Given the description of an element on the screen output the (x, y) to click on. 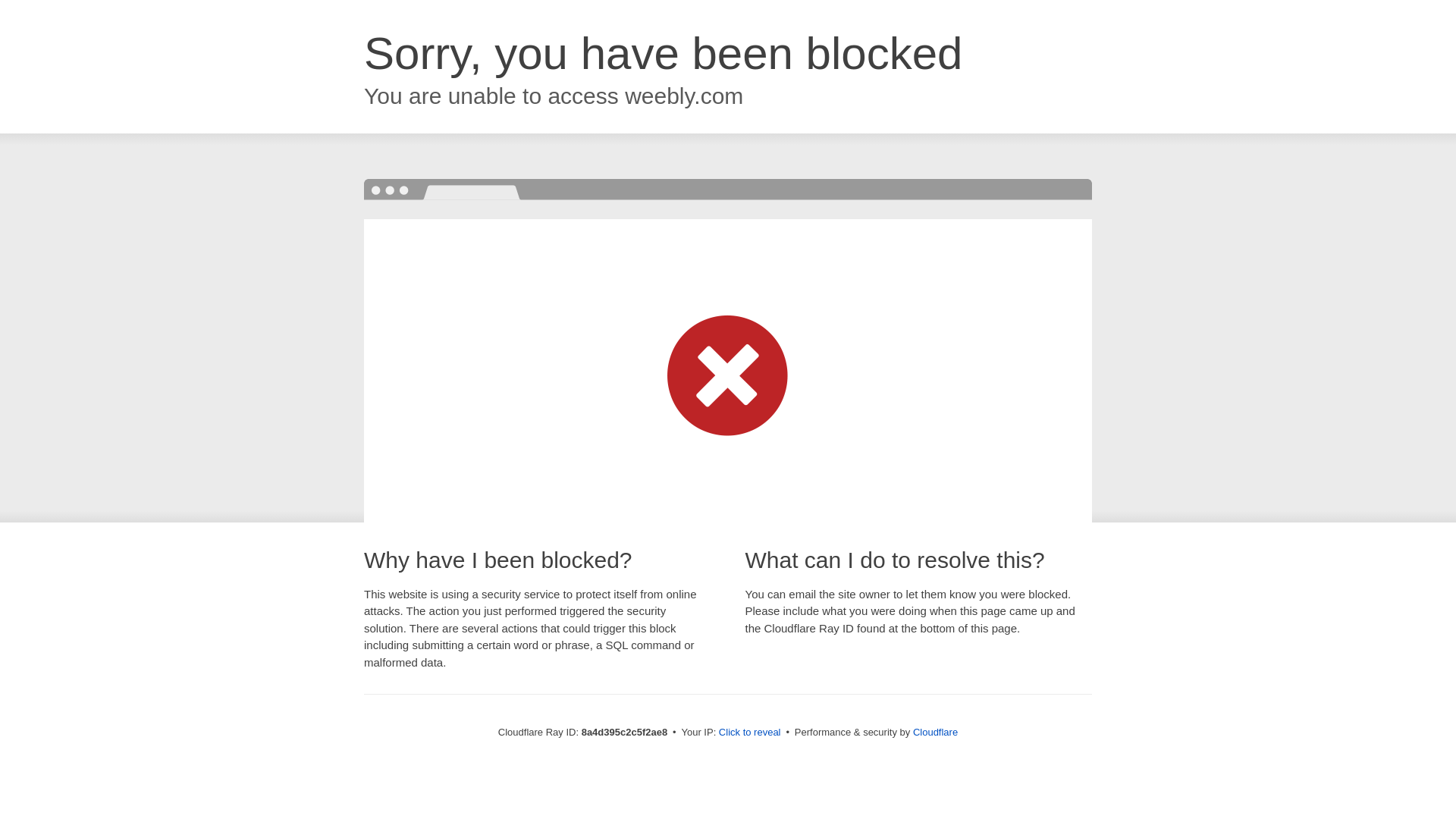
Click to reveal (749, 732)
Cloudflare (935, 731)
